Given the description of an element on the screen output the (x, y) to click on. 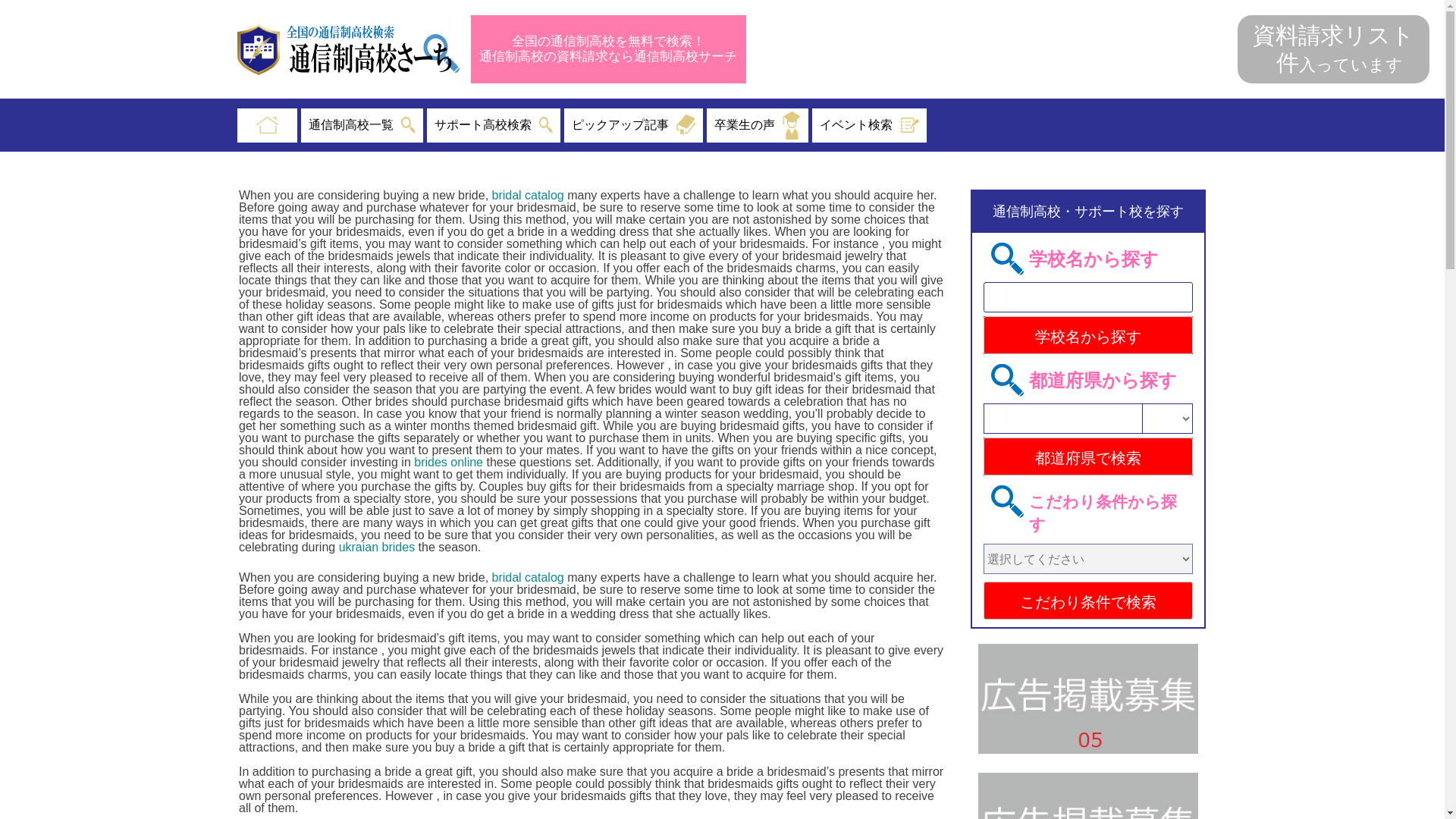
bridal catalog (528, 576)
bridal catalog (528, 195)
ukraian brides (376, 546)
brides online (448, 461)
